Given the description of an element on the screen output the (x, y) to click on. 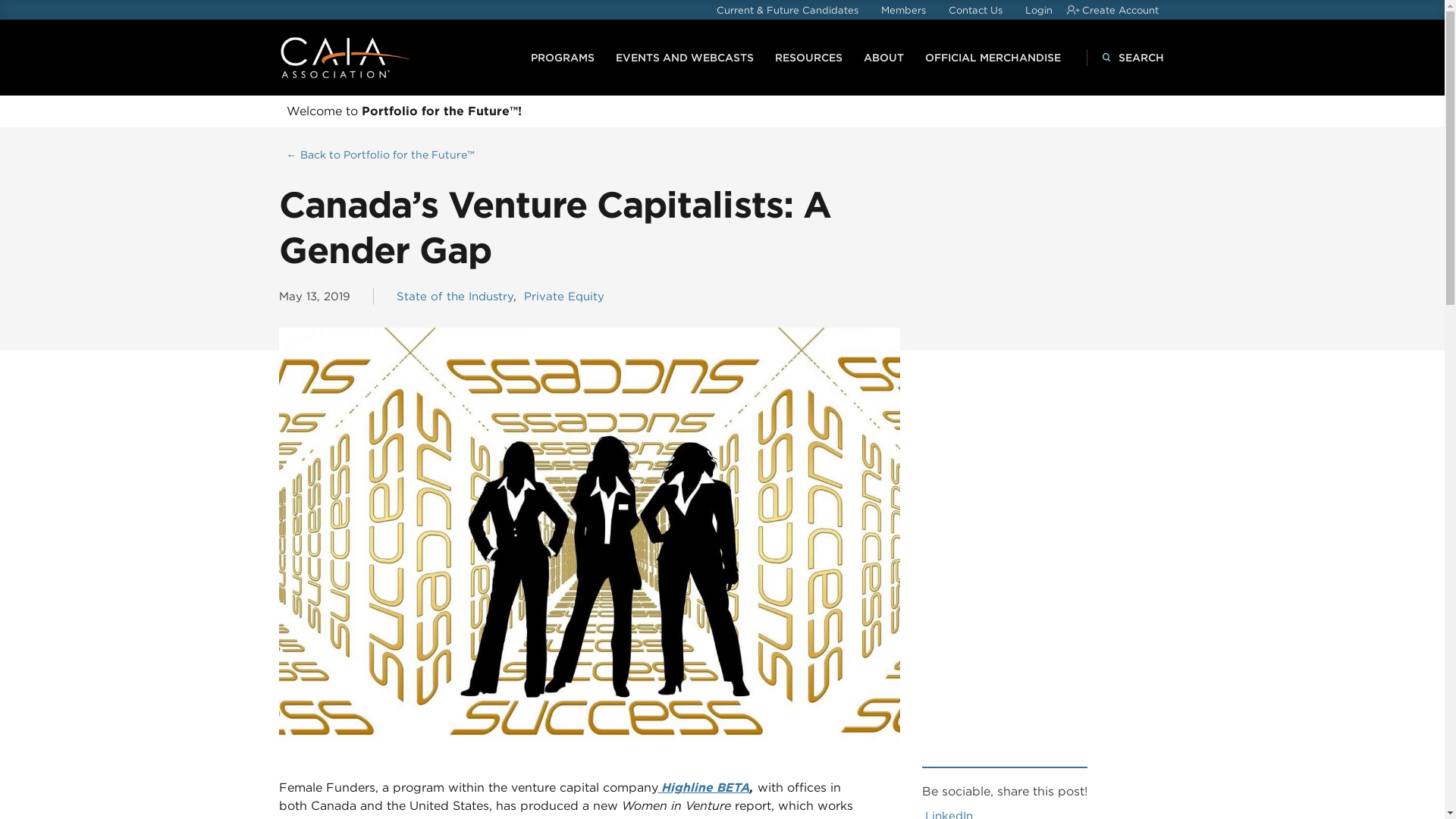
OFFICIAL MERCHANDISE (992, 57)
Programs (562, 57)
Login (1038, 9)
Members (903, 9)
About CAIA (882, 57)
Contact Us (974, 9)
Contact Us (974, 9)
Members (903, 9)
Resources (808, 57)
Create Account (1119, 9)
